Given the description of an element on the screen output the (x, y) to click on. 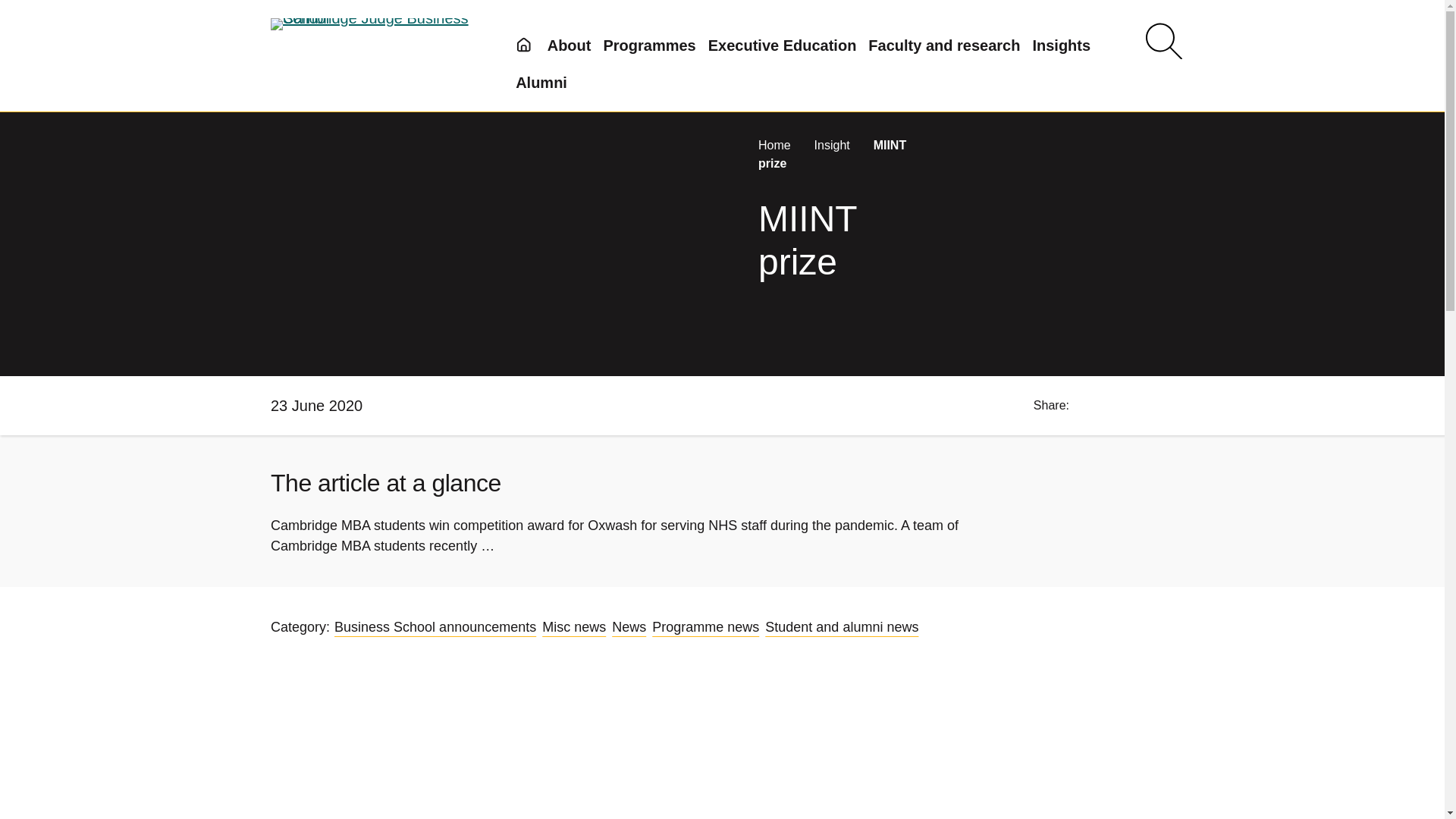
Insight (833, 144)
About (568, 45)
Home (775, 144)
